Given the description of an element on the screen output the (x, y) to click on. 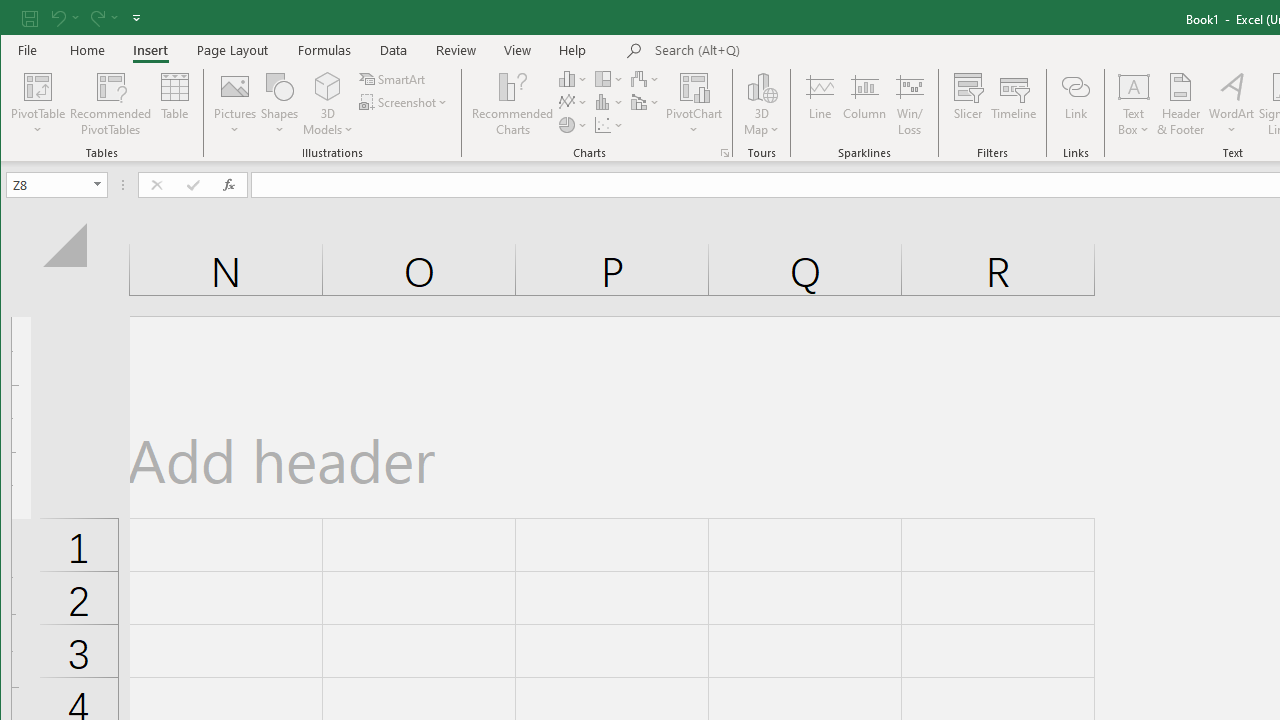
PivotChart (694, 104)
Insert Combo Chart (646, 101)
Insert Pie or Doughnut Chart (573, 124)
Insert Waterfall, Funnel, Stock, Surface, or Radar Chart (646, 78)
Insert Hierarchy Chart (609, 78)
Link (1075, 104)
SmartArt... (393, 78)
PivotTable (37, 86)
